Given the description of an element on the screen output the (x, y) to click on. 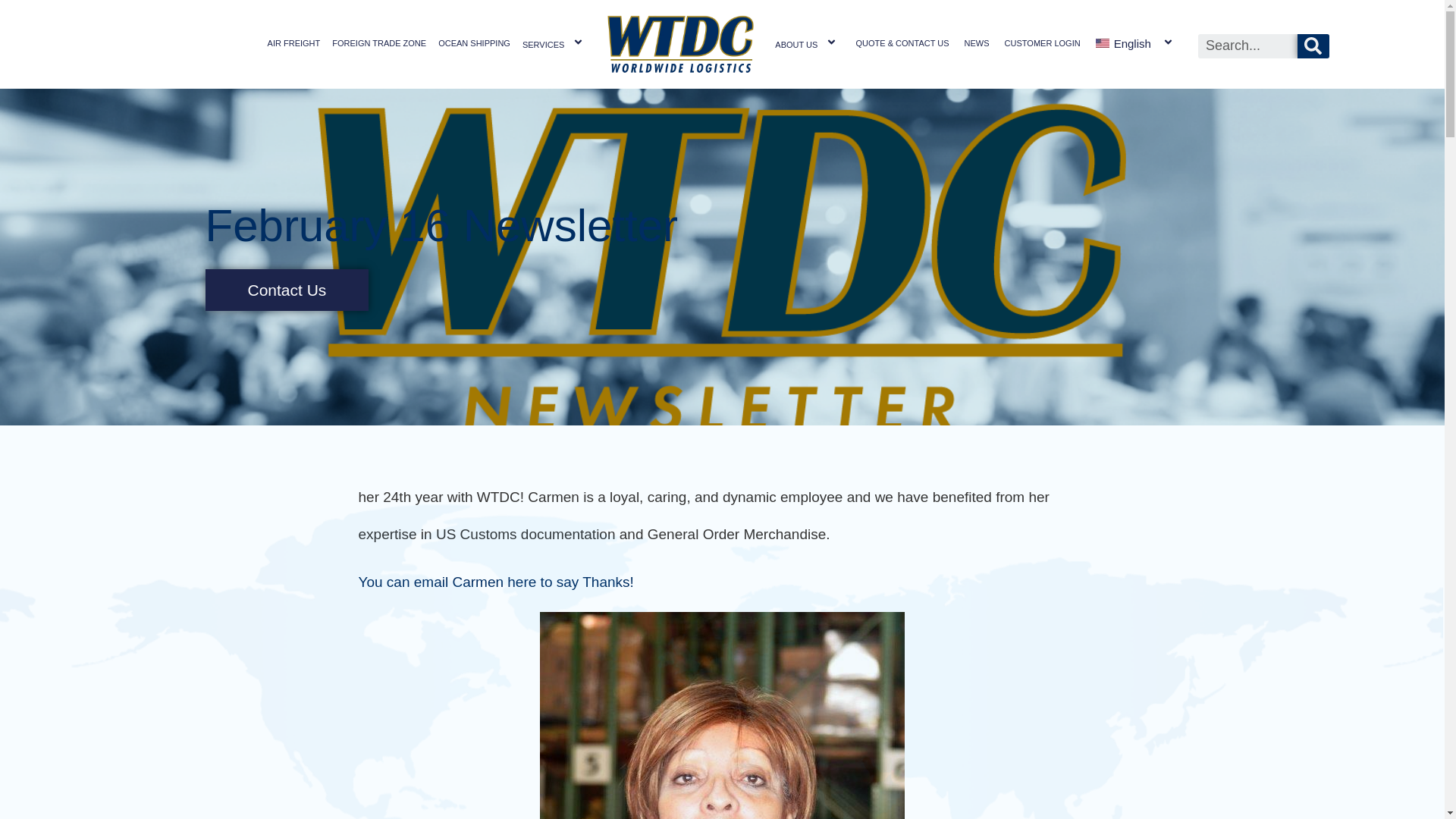
English (1136, 44)
AIR FREIGHT (294, 43)
OCEAN SHIPPING (474, 43)
WTDC Home (679, 44)
SERVICES (555, 44)
FOREIGN TRADE ZONE (379, 43)
Search (1247, 46)
Search (1313, 46)
